Given the description of an element on the screen output the (x, y) to click on. 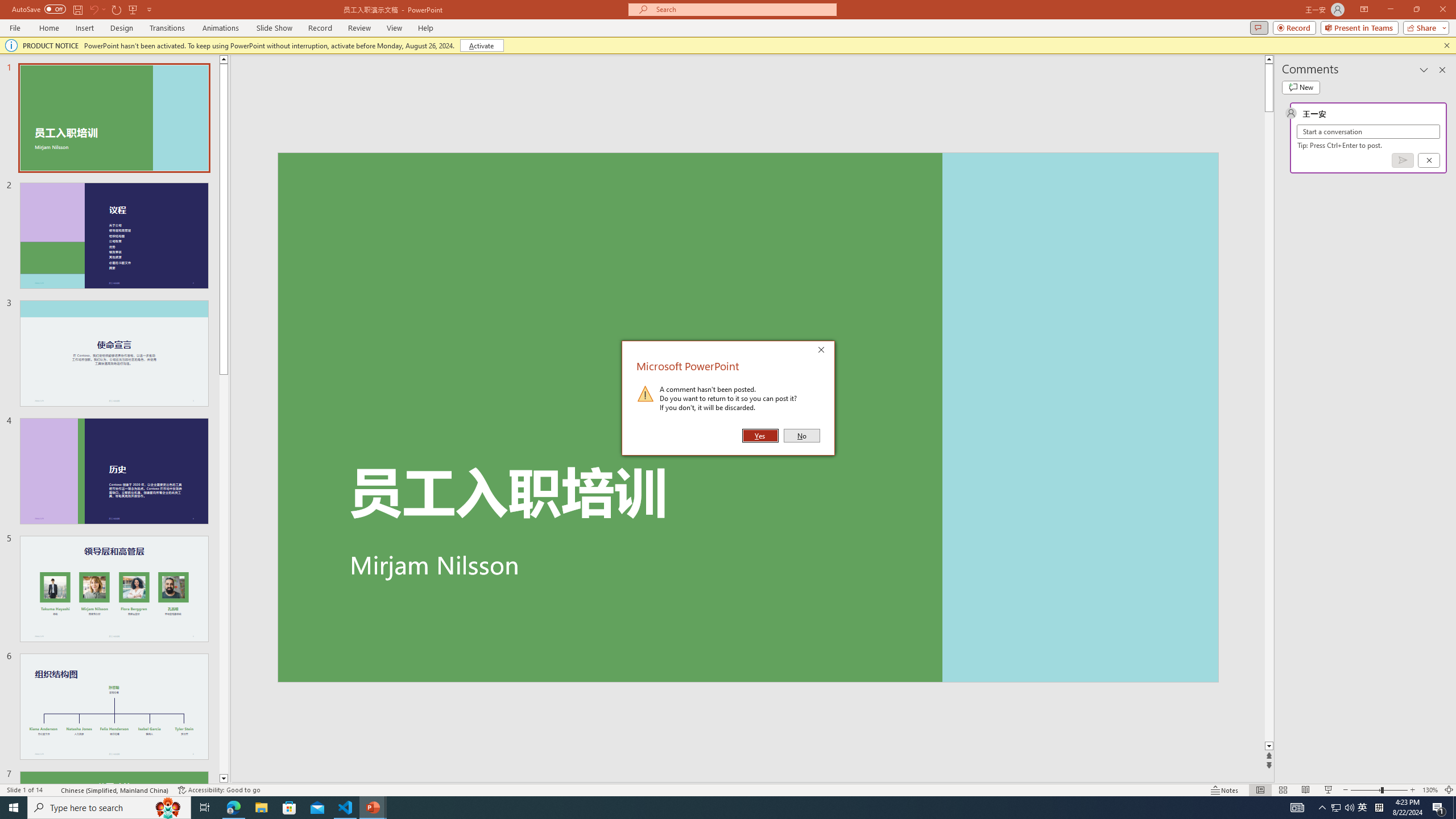
Start a conversation (1368, 131)
Spell Check  (52, 790)
Activate (481, 45)
